Given the description of an element on the screen output the (x, y) to click on. 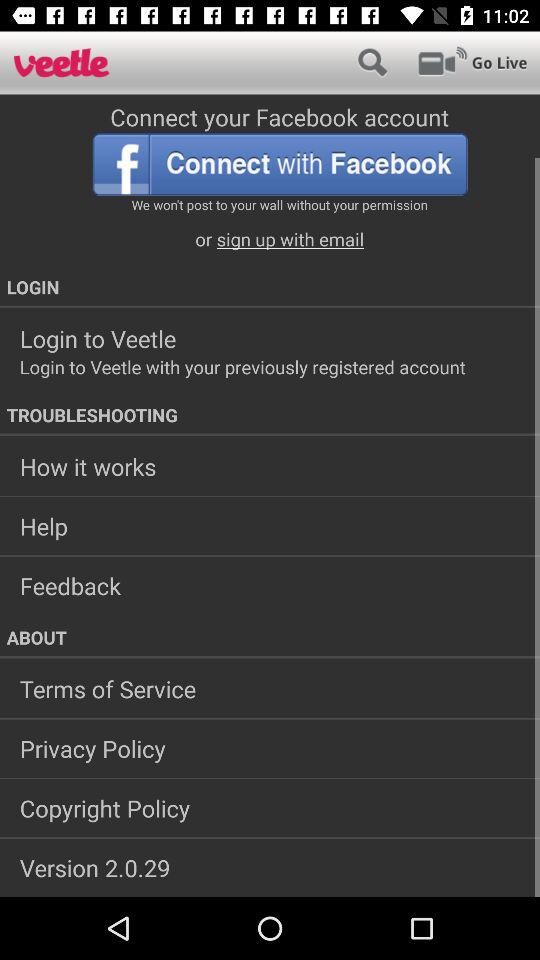
turn on how it works icon (270, 466)
